Given the description of an element on the screen output the (x, y) to click on. 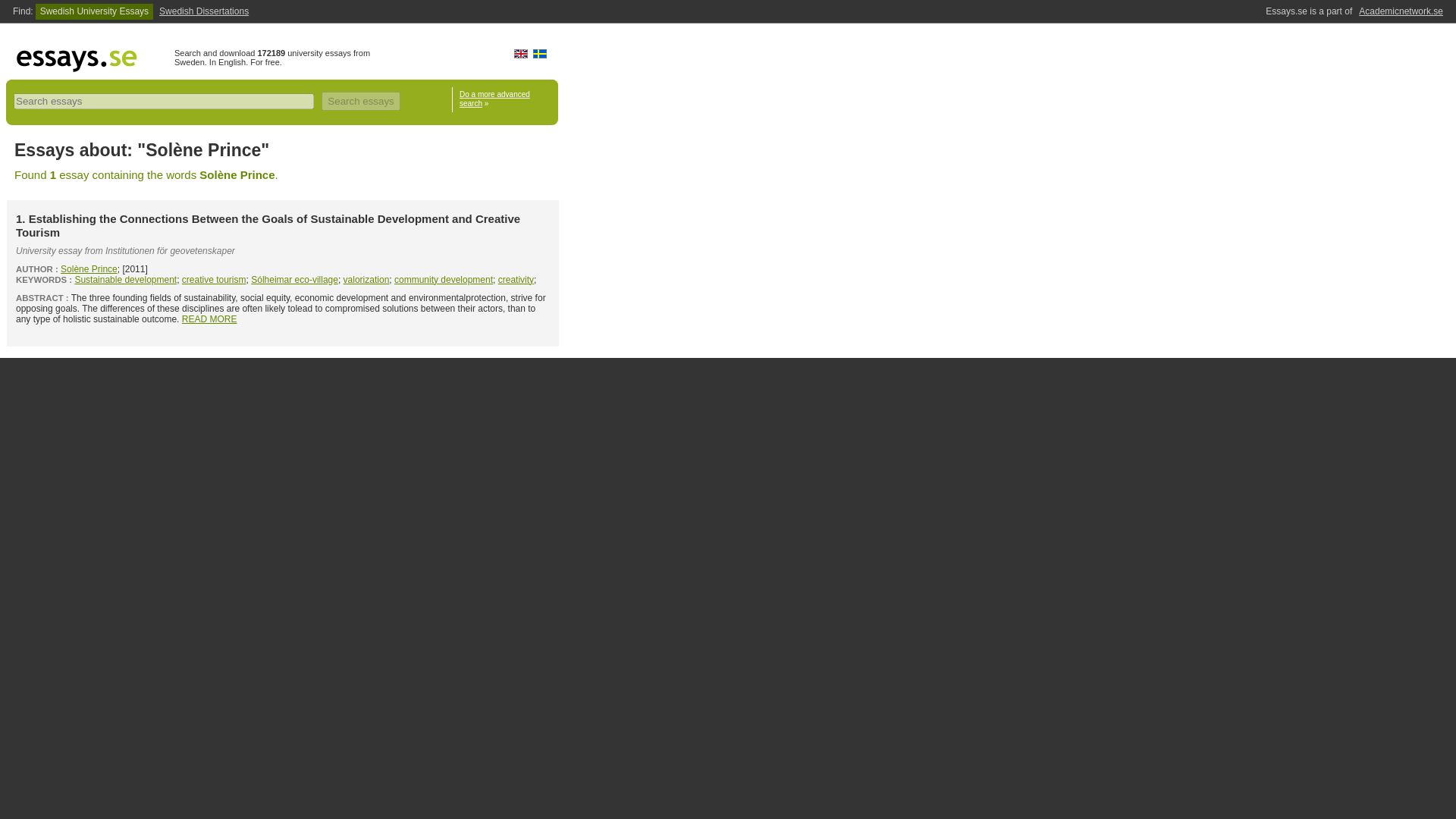
creative tourism (214, 279)
Academicnetwork.se (1400, 11)
Swedish Dissertations (203, 11)
Language: Swedish (539, 53)
Search essays (359, 100)
Do a more advanced search (494, 98)
Swedish University Essays (93, 11)
Sustainable development (125, 279)
community development (443, 279)
Search essays (359, 100)
valorization (366, 279)
READ MORE (209, 318)
creativity (515, 279)
Language: English (520, 53)
